Given the description of an element on the screen output the (x, y) to click on. 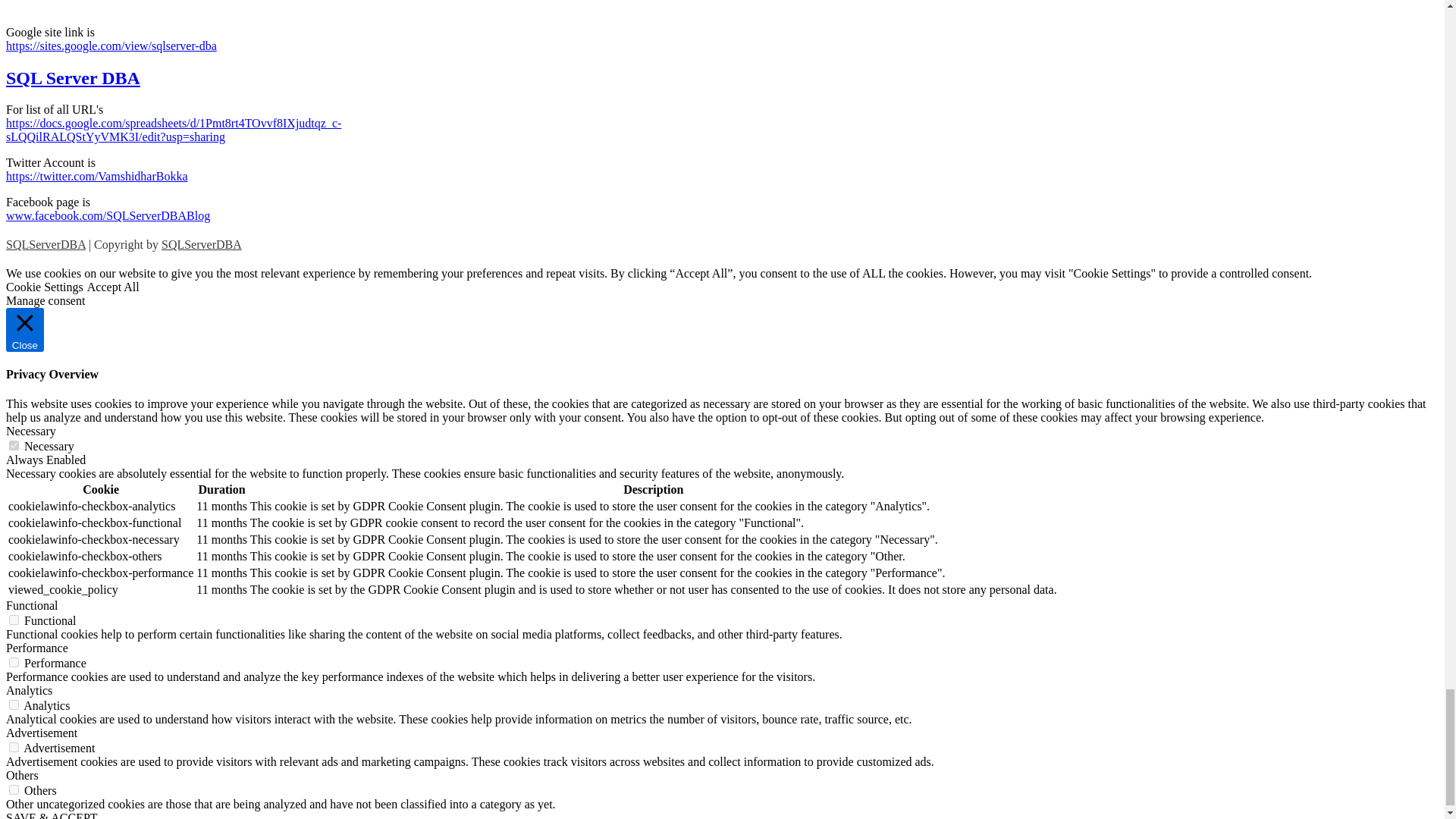
on (13, 619)
on (13, 789)
on (13, 445)
on (13, 747)
on (13, 662)
on (13, 705)
